Given the description of an element on the screen output the (x, y) to click on. 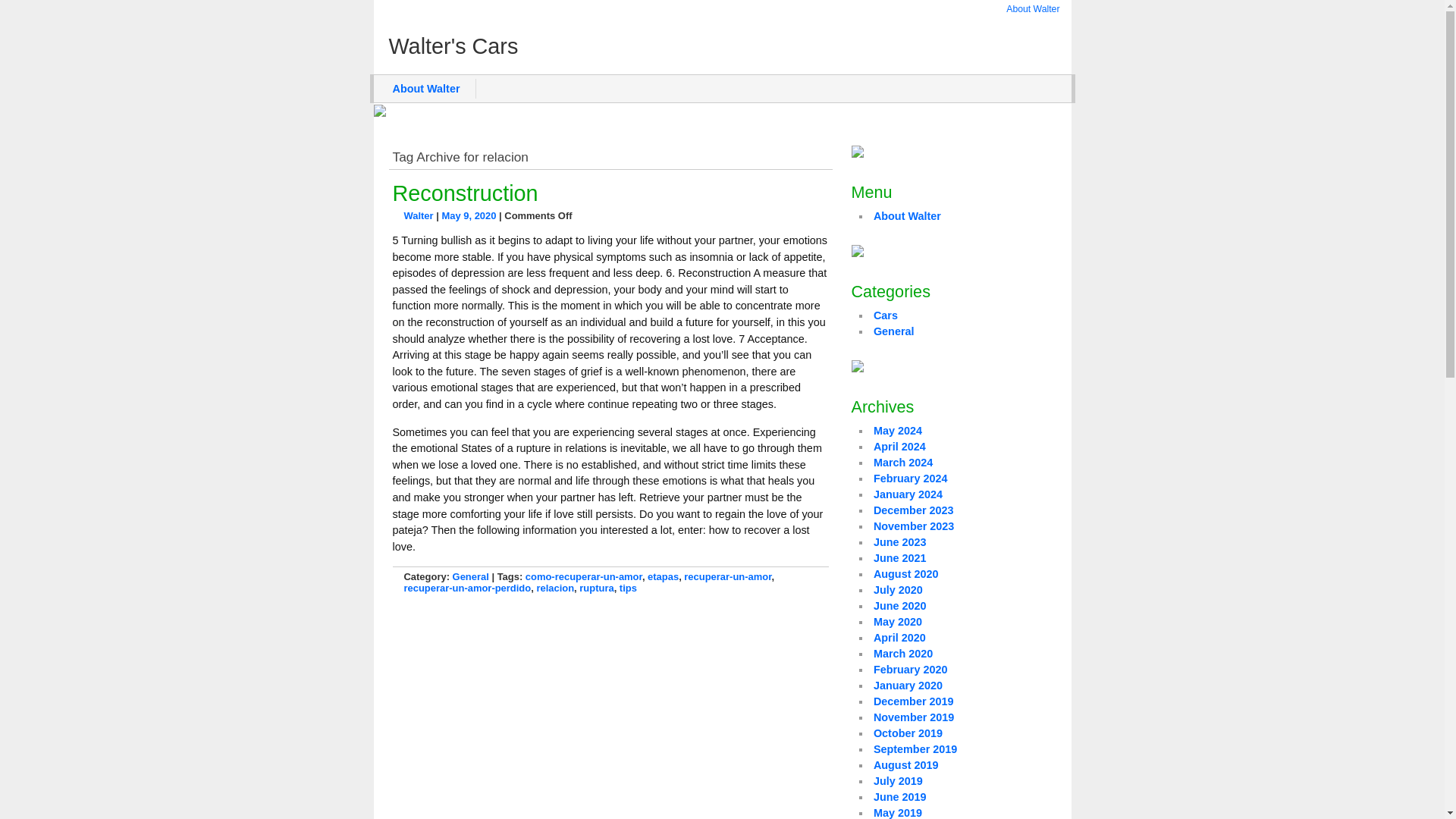
General (470, 576)
recuperar-un-amor (727, 576)
February 2020 (910, 669)
January 2024 (907, 494)
relacion (554, 587)
About Walter (426, 88)
Reconstruction (465, 192)
May 2024 (897, 430)
June 2020 (899, 605)
ruptura (595, 587)
November 2023 (913, 526)
July 2020 (898, 589)
November 2019 (913, 717)
About Walter (1032, 9)
September 2019 (914, 748)
